Given the description of an element on the screen output the (x, y) to click on. 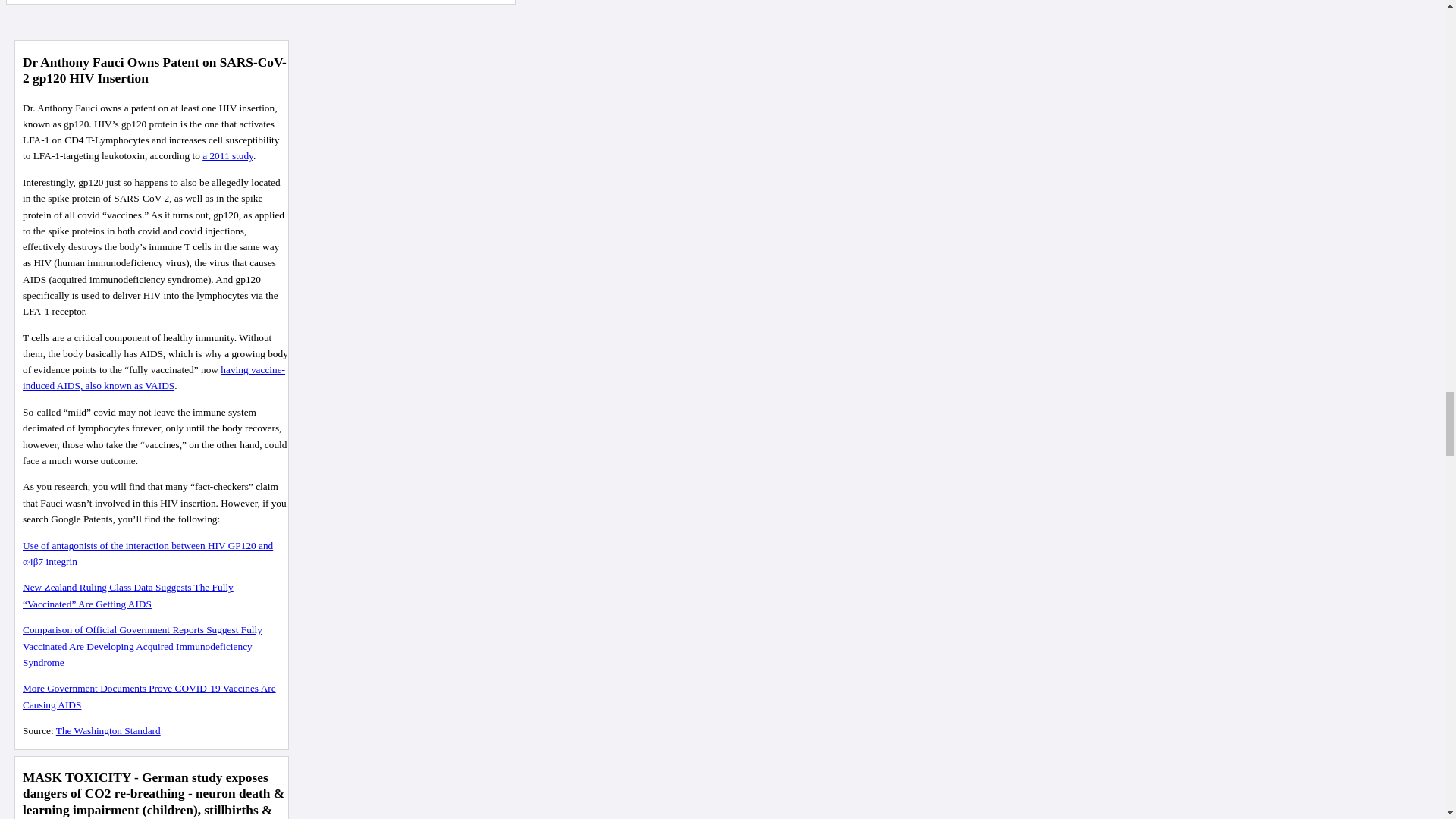
The Washington Standard (108, 730)
The Washington Standard (108, 730)
having vaccine-induced AIDS, also known as VAIDS (154, 377)
a 2011 study (227, 155)
